Given the description of an element on the screen output the (x, y) to click on. 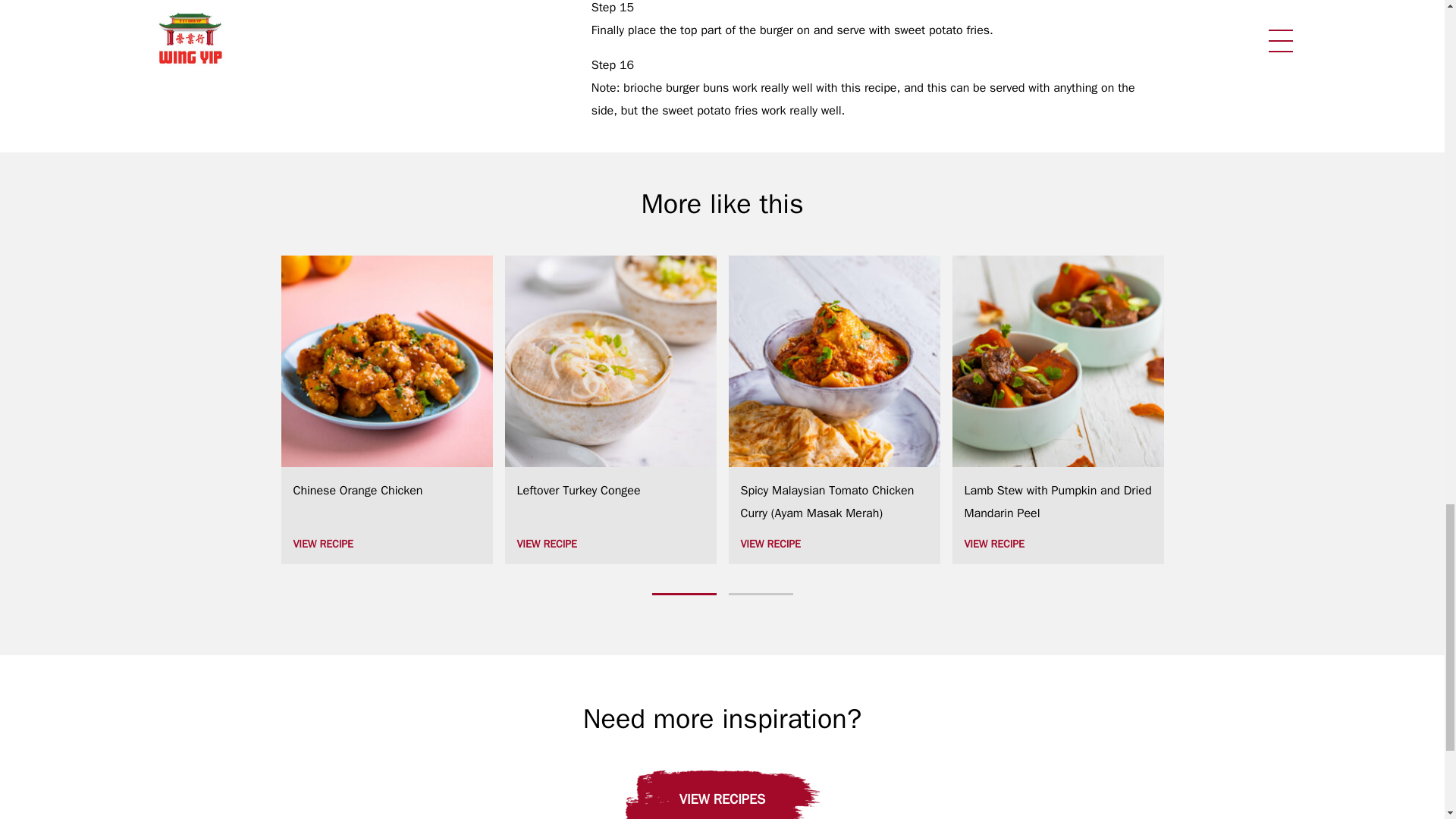
VIEW RECIPE (1057, 544)
VIEW RECIPE (386, 544)
VIEW RECIPES (721, 794)
VIEW RECIPE (833, 544)
VIEW RECIPE (610, 544)
